Given the description of an element on the screen output the (x, y) to click on. 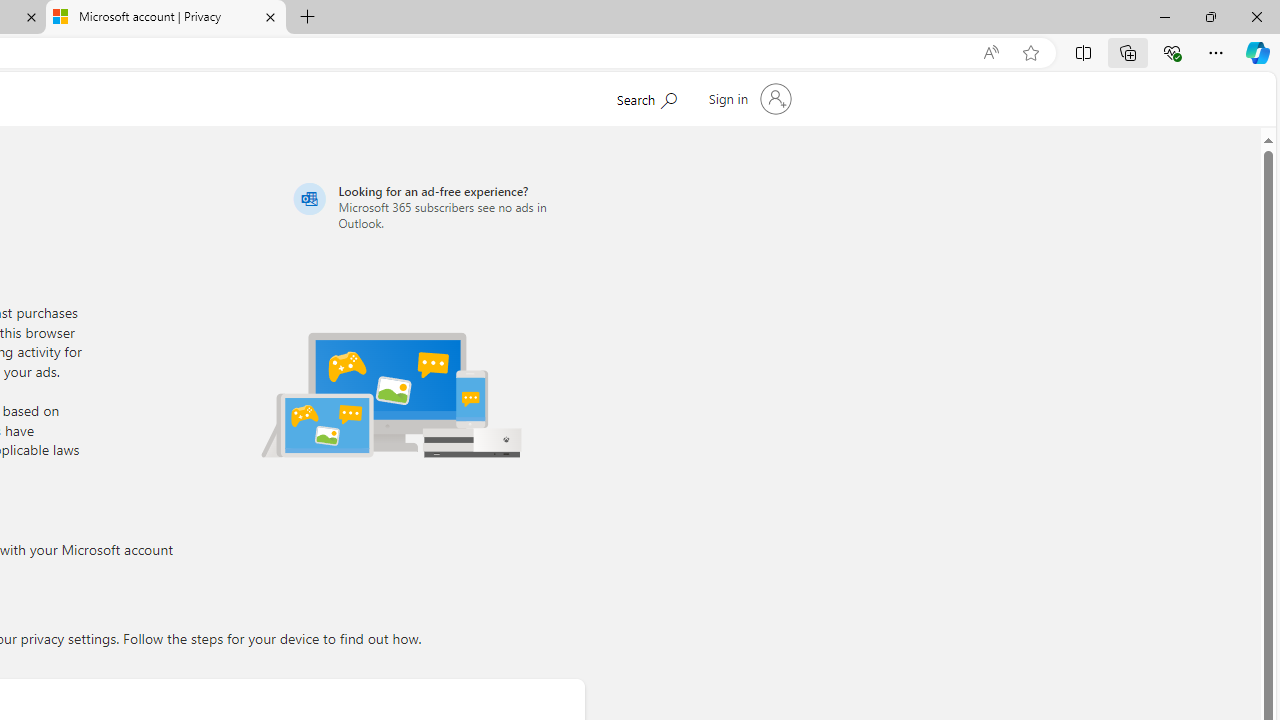
Looking for an ad-free experience? (436, 206)
